Given the description of an element on the screen output the (x, y) to click on. 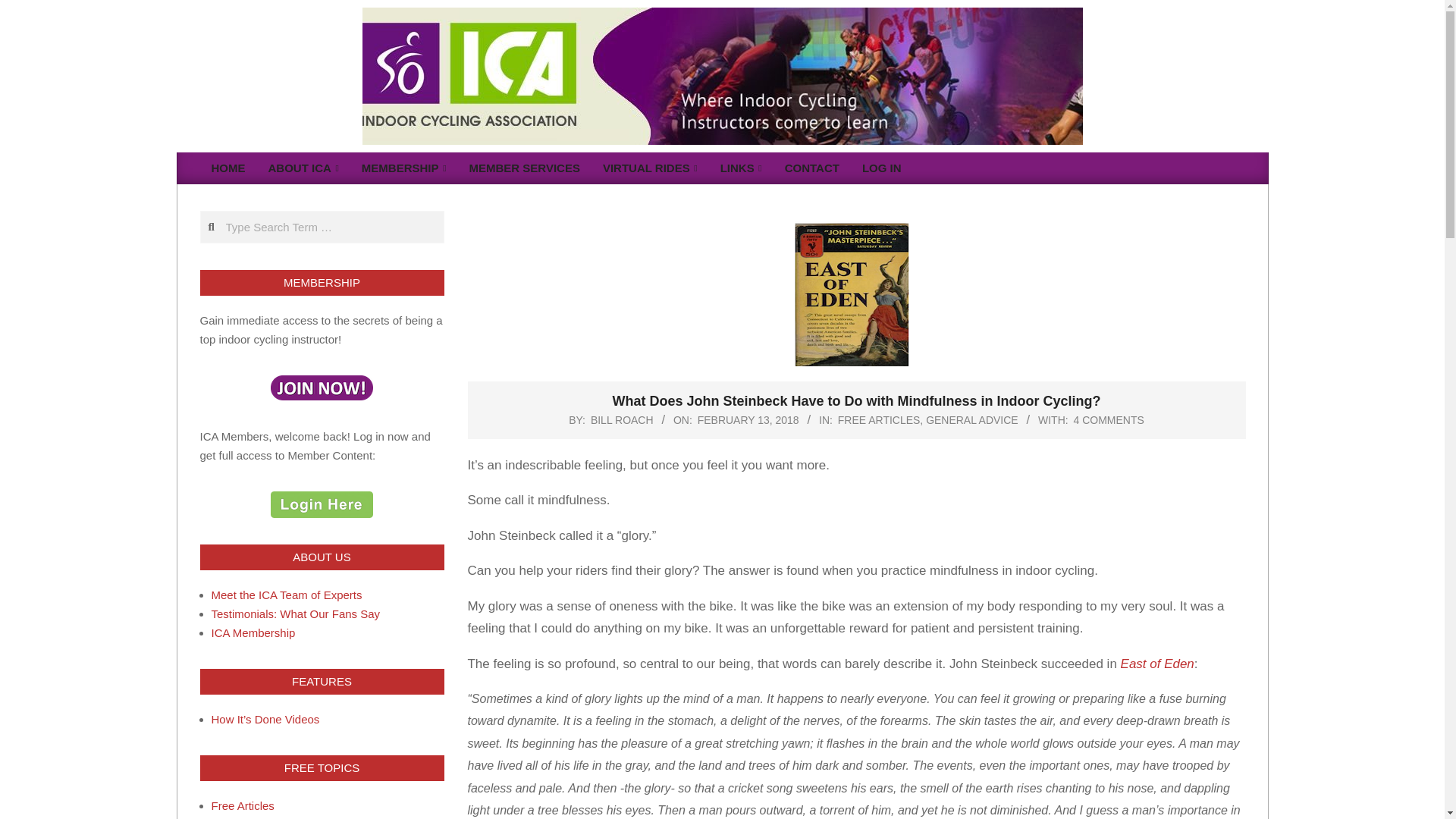
FREE ARTICLES (879, 419)
HOME (228, 168)
Tuesday, February 13, 2018, 8:30 am (748, 419)
VIRTUAL RIDES (650, 168)
MEMBERSHIP (404, 168)
LINKS (741, 168)
Posts by Bill Roach (622, 419)
4 COMMENTS (1109, 419)
GENERAL ADVICE (971, 419)
CONTACT (811, 168)
MEMBER SERVICES (524, 168)
BILL ROACH (622, 419)
LOG IN (881, 168)
ABOUT ICA (302, 168)
